Given the description of an element on the screen output the (x, y) to click on. 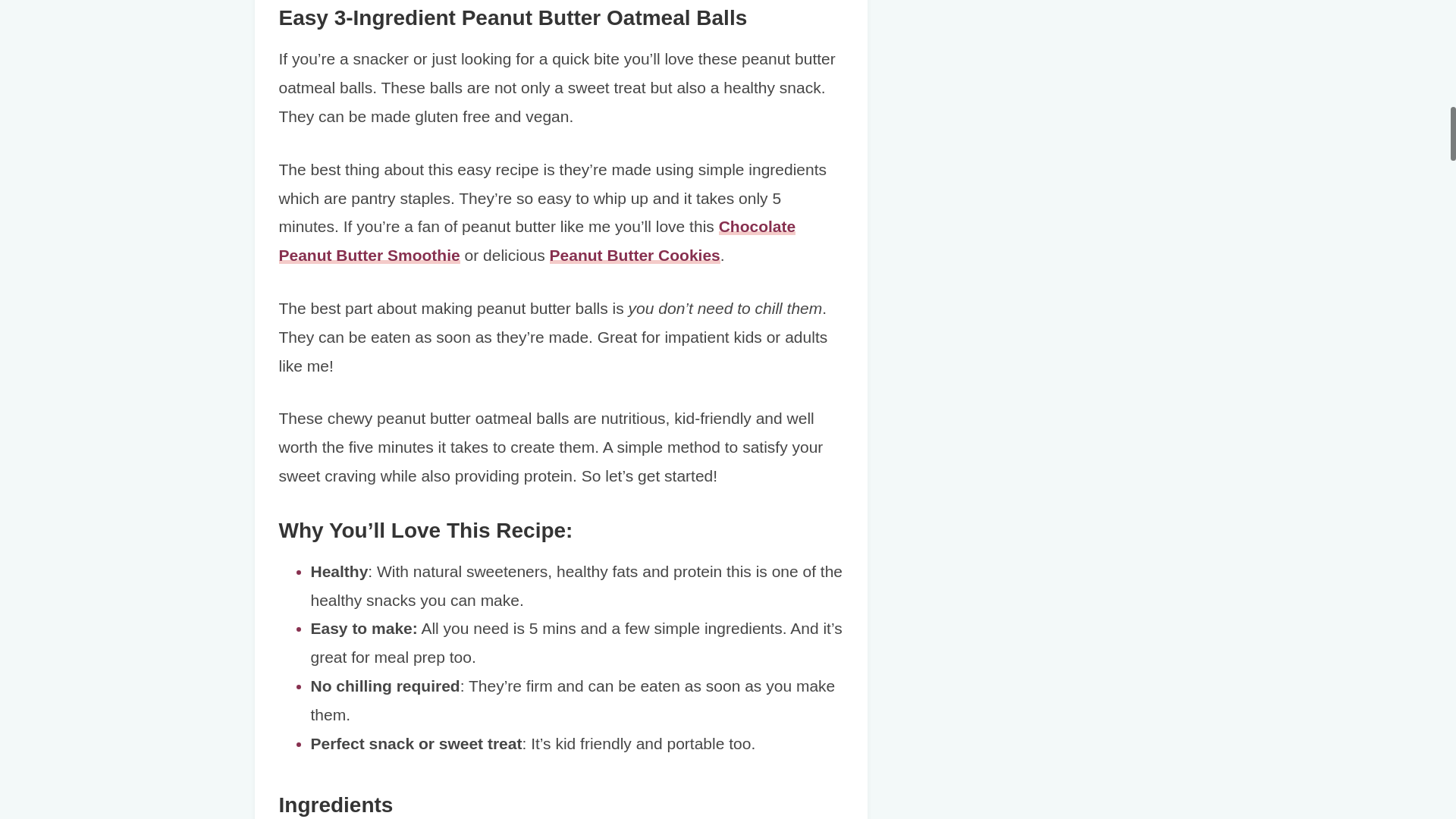
Peanut Butter Cookies (635, 254)
Can you Use Maple syrup In Peanut Butter Balls? (515, 16)
Recipe (355, 102)
What Can I Use Instead Of Oats? (452, 45)
Chocolate Peanut Butter Smoothie (537, 240)
